Given the description of an element on the screen output the (x, y) to click on. 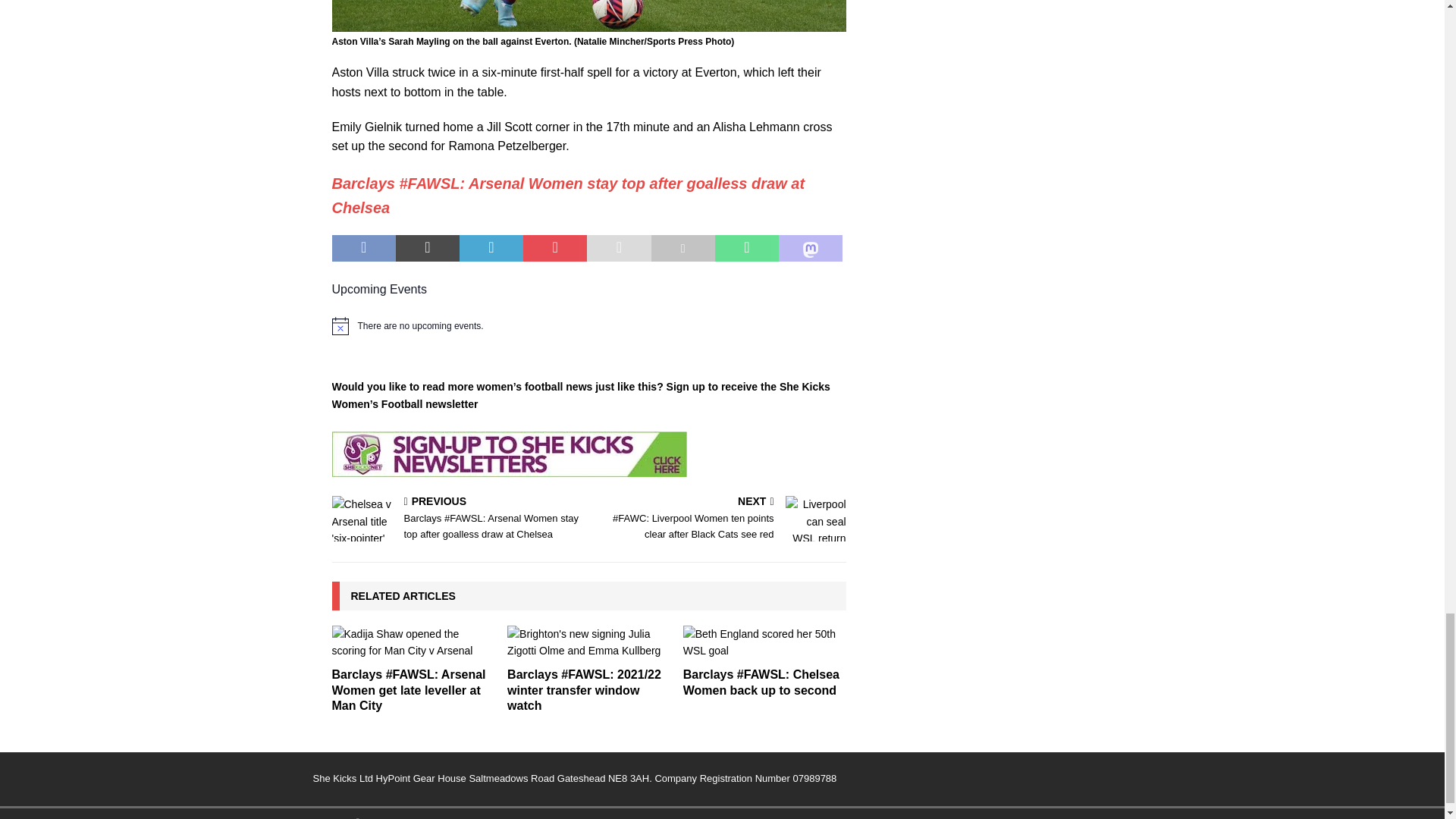
Pin This Post (554, 248)
Send this article to a friend (618, 248)
Share on LinkedIn (491, 248)
Share on Facebook (363, 248)
Tweet This Post (428, 248)
